Given the description of an element on the screen output the (x, y) to click on. 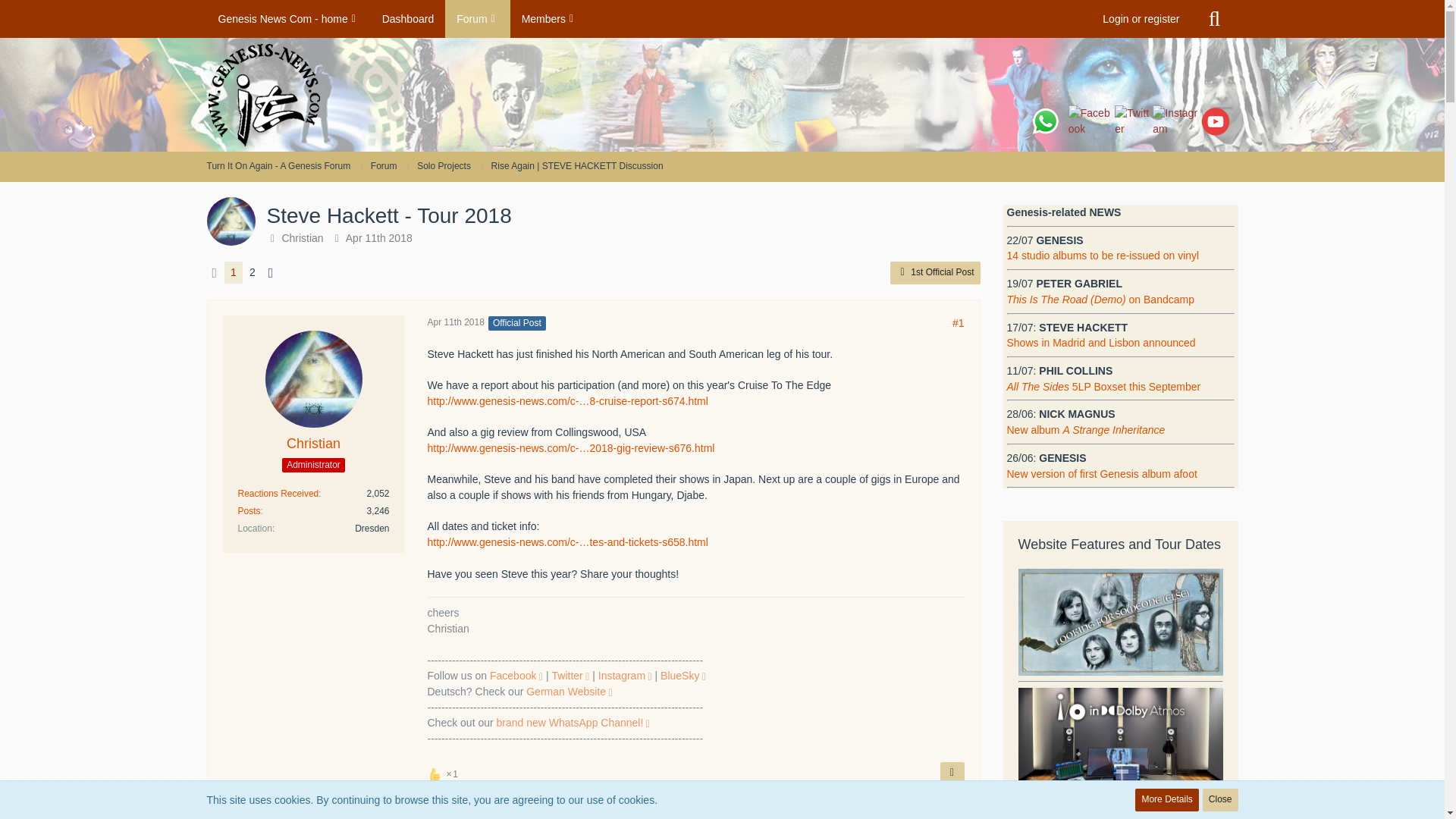
Turn It On Again - A Genesis Forum (284, 166)
1st Official Post (934, 272)
Page 2 (252, 272)
Apr 11th 2018 (379, 237)
Login or register (1140, 18)
2 (252, 272)
Genesis News Com - home (287, 18)
Christian (313, 443)
Solo Projects (443, 165)
Solo Projects (449, 166)
Posts (249, 511)
Christian (302, 237)
Forum (384, 165)
